Given the description of an element on the screen output the (x, y) to click on. 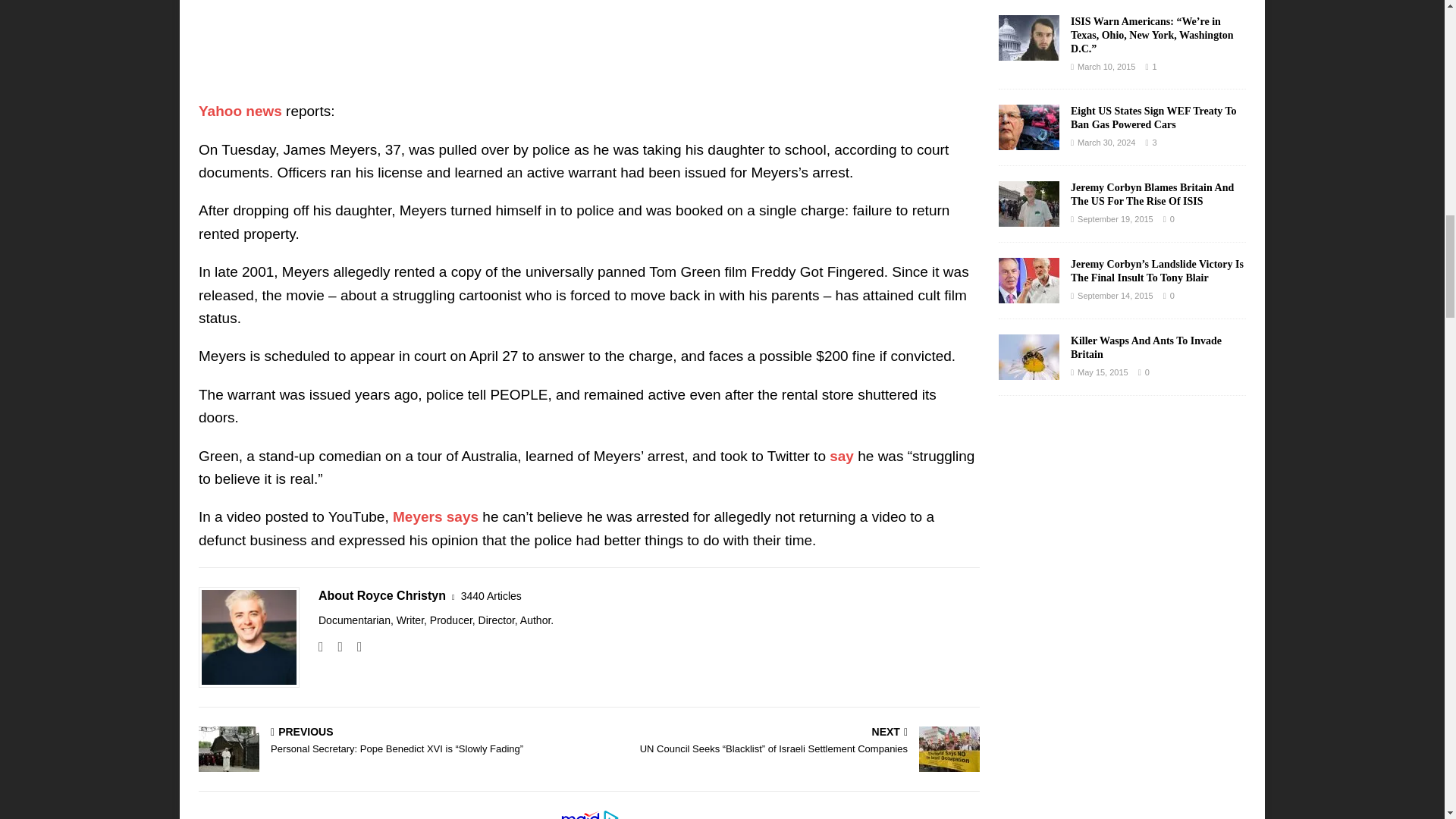
More articles written by Royce Christyn' (491, 596)
Follow Royce Christyn on Twitter (354, 646)
Follow Royce Christyn on Instagram (334, 646)
